Given the description of an element on the screen output the (x, y) to click on. 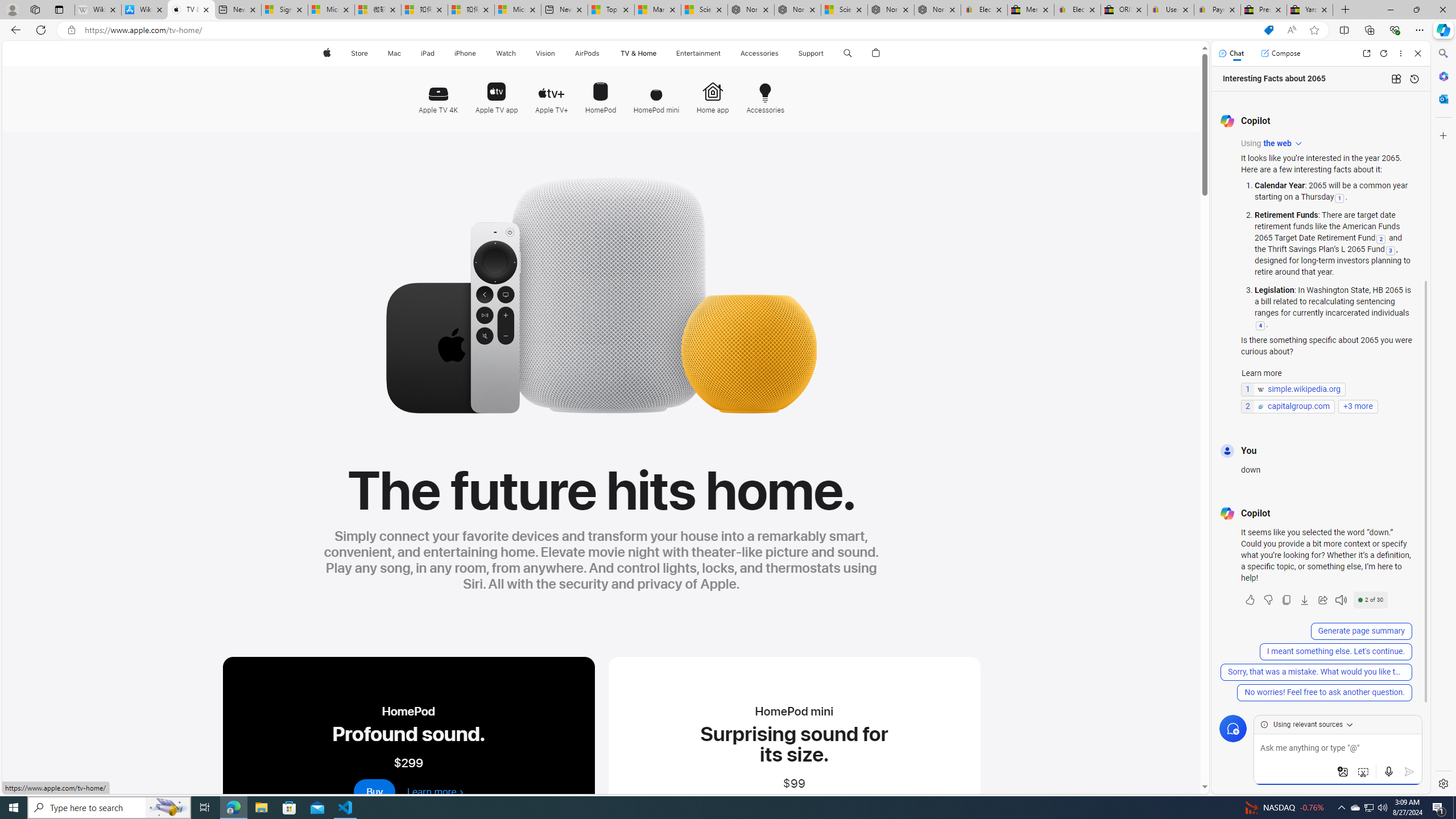
Mac (394, 53)
Watch (506, 53)
User Privacy Notice | eBay (1170, 9)
AirPods (587, 53)
Apple TV 4K (437, 93)
iPad menu (435, 53)
Top Stories - MSN (610, 9)
Electronics, Cars, Fashion, Collectibles & More | eBay (1077, 9)
Yard, Garden & Outdoor Living (1309, 9)
